Given the description of an element on the screen output the (x, y) to click on. 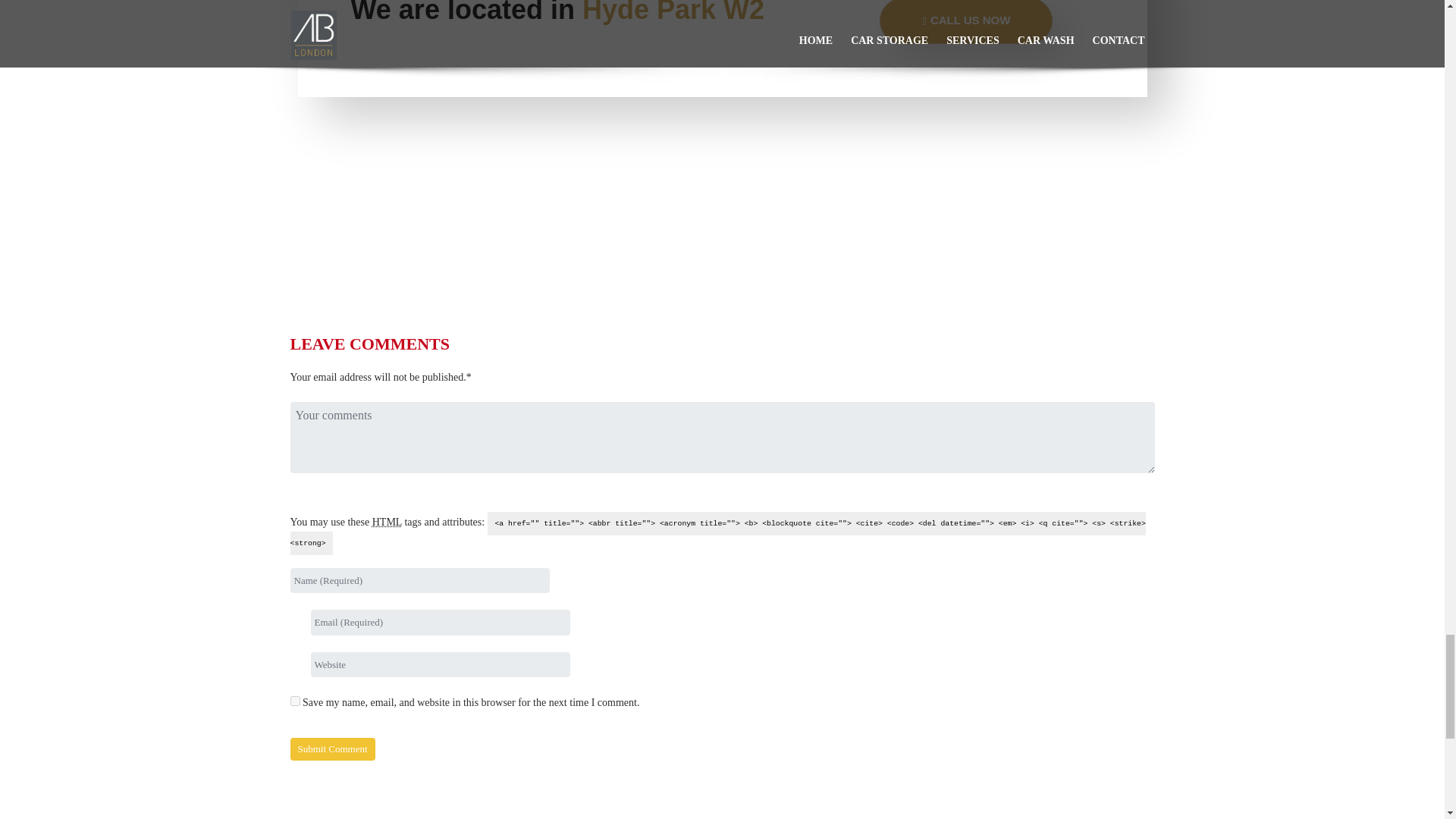
Submit Comment (331, 748)
yes (294, 700)
HyperText Markup Language (386, 521)
CALL US NOW (965, 22)
Submit Comment (331, 748)
